Given the description of an element on the screen output the (x, y) to click on. 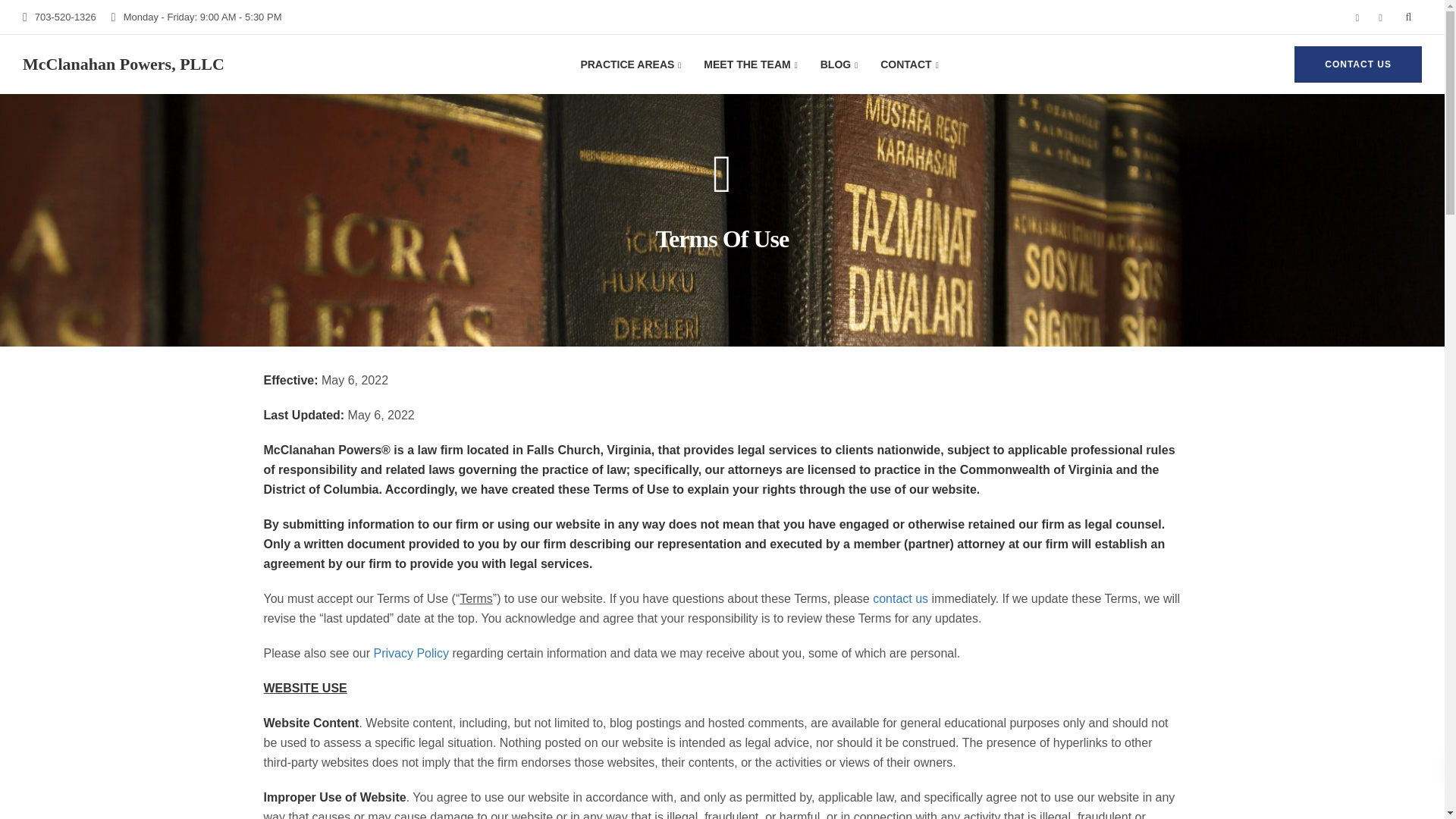
PRACTICE AREAS (631, 64)
703-520-1326 (68, 16)
contact us (900, 598)
MEET THE TEAM (750, 64)
McClanahan Powers, PLLC (123, 64)
CONTACT (909, 64)
Privacy Policy (410, 653)
McClanahan Powers (123, 64)
CONTACT US (1358, 63)
BLOG (839, 64)
